Given the description of an element on the screen output the (x, y) to click on. 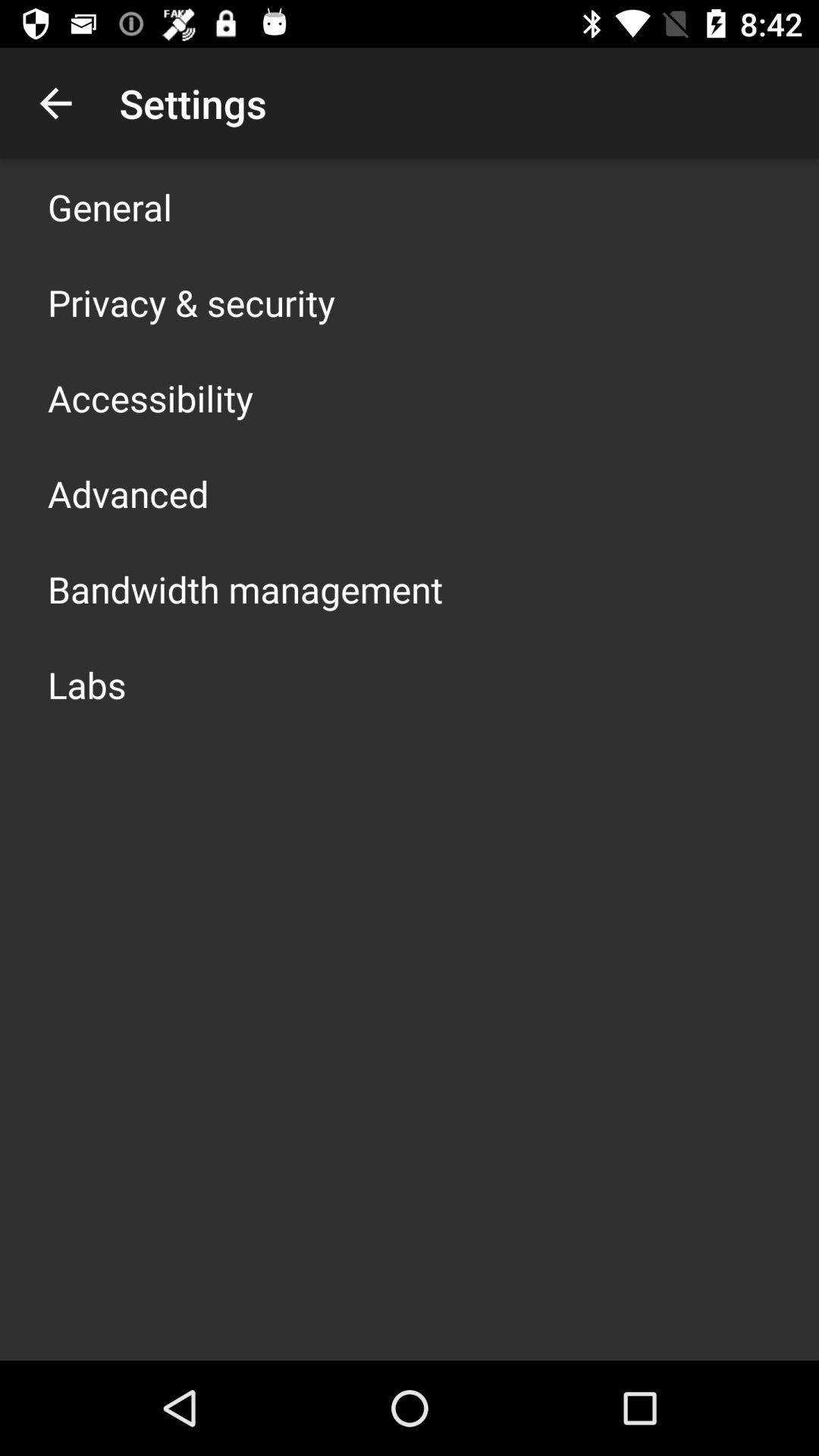
launch app next to the settings (55, 103)
